Given the description of an element on the screen output the (x, y) to click on. 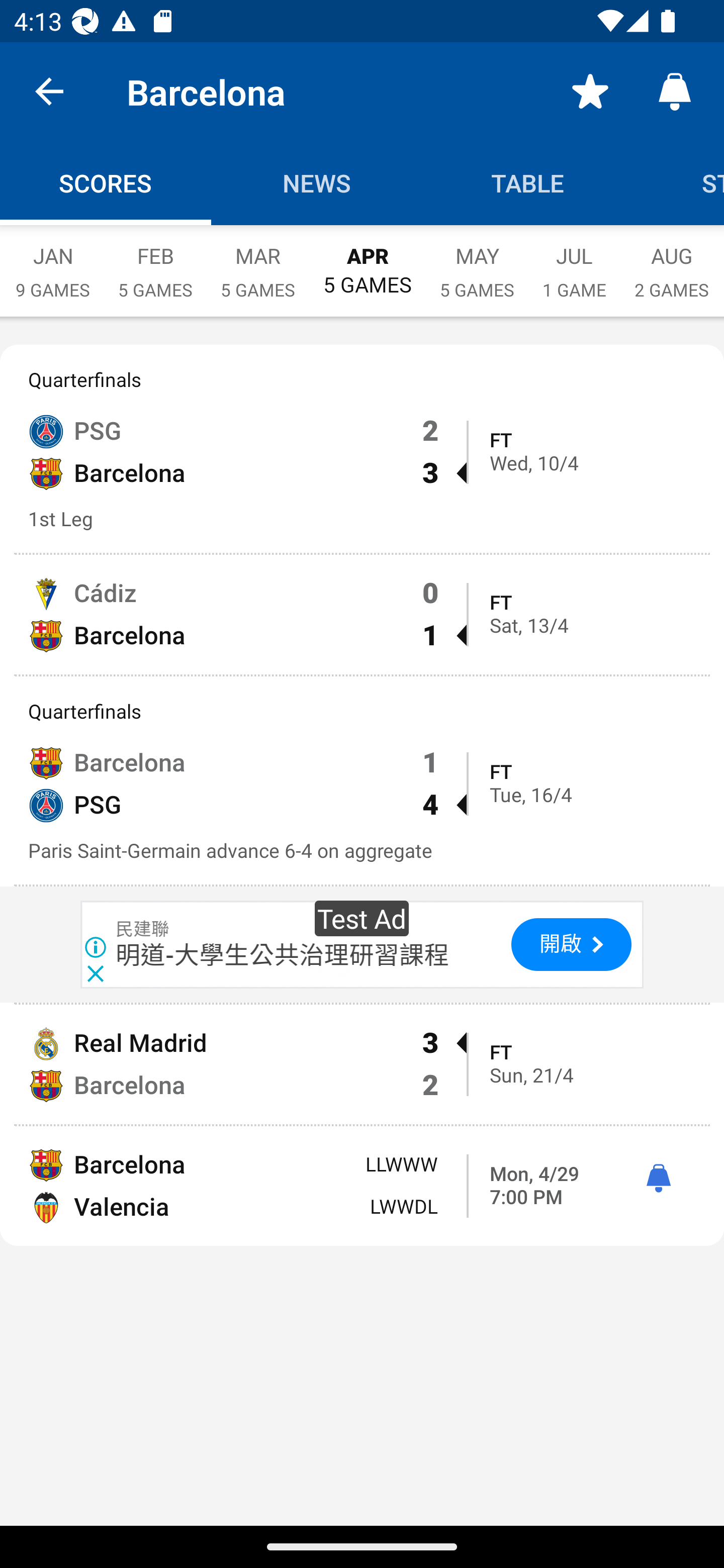
back.button (49, 90)
Favorite toggle (590, 90)
Alerts (674, 90)
News NEWS (316, 183)
Table TABLE (527, 183)
JAN 9 GAMES (52, 262)
FEB 5 GAMES (155, 262)
MAR 5 GAMES (257, 262)
APR 5 GAMES (367, 261)
MAY 5 GAMES (476, 262)
JUL 1 GAME (574, 262)
AUG 2 GAMES (671, 262)
Cádiz 0 Barcelona 1  FT Sat, 13/4 (362, 614)
民建聯 (142, 929)
開啟 (570, 944)
明道-大學生公共治理研習課程 (282, 954)
Real Madrid 3  Barcelona 2 FT Sun, 21/4 (362, 1064)
Barcelona LLWWW Valencia LWWDL Mon, 4/29 7:00 PM ì (362, 1185)
ì (658, 1178)
